Given the description of an element on the screen output the (x, y) to click on. 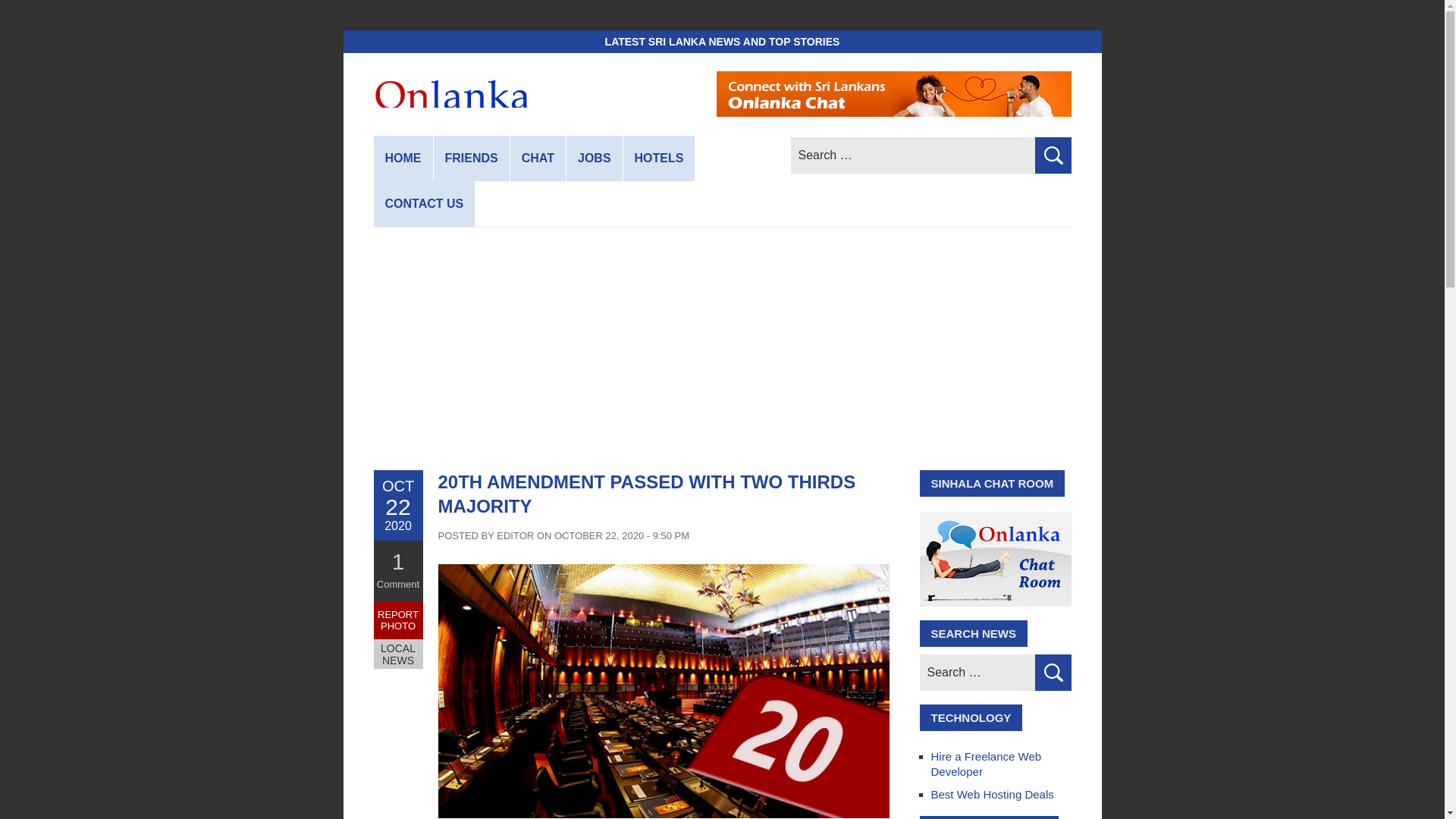
Book Sri Lanka Hotel Rooms online (659, 157)
1 (397, 560)
Comment (397, 583)
CHAT (538, 157)
Search (1051, 155)
Home page (402, 157)
Best Web Hosting Deals (992, 793)
Search (1051, 672)
CONTACT US (423, 203)
REPORT PHOTO (397, 620)
